Given the description of an element on the screen output the (x, y) to click on. 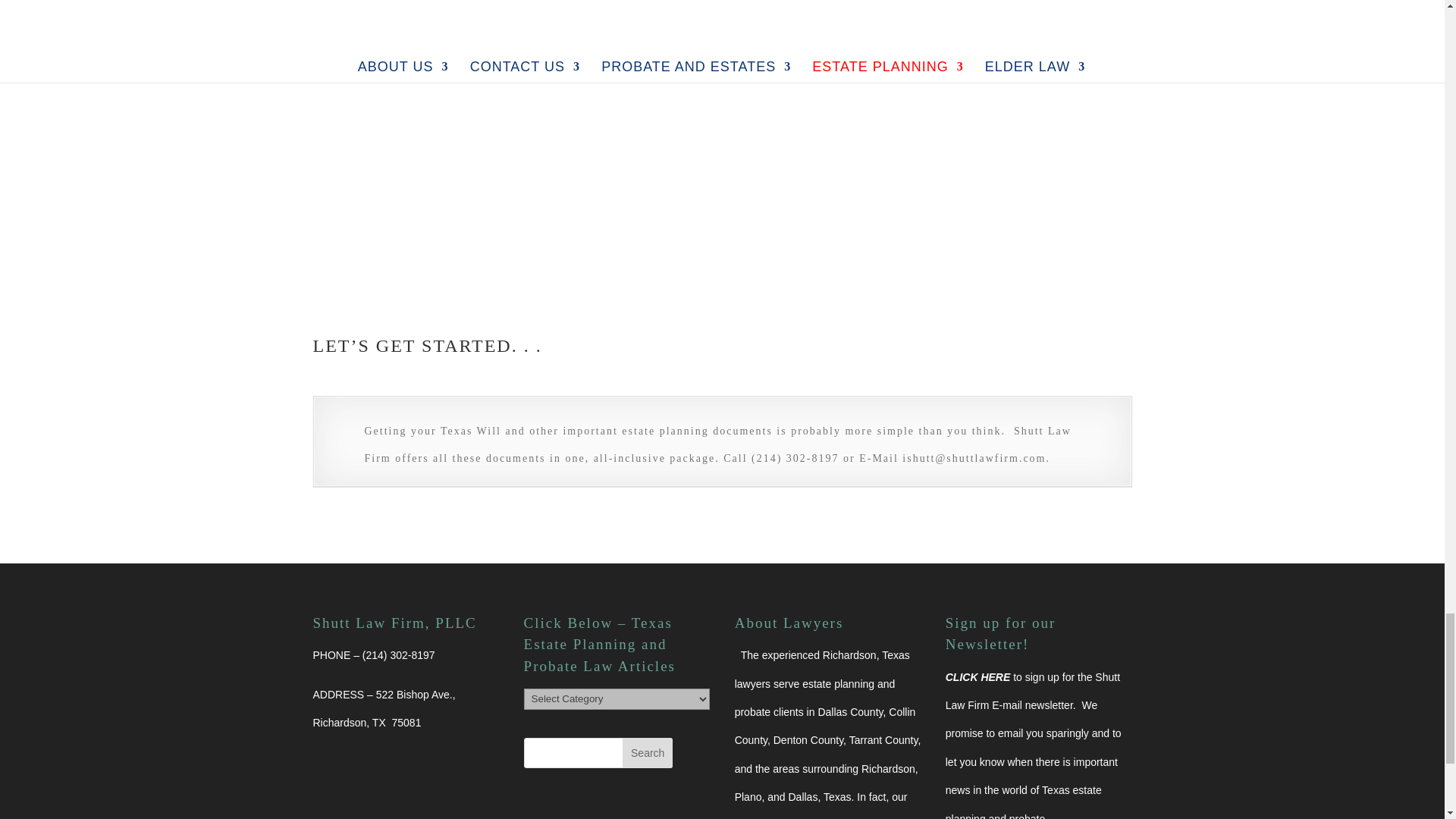
Step Two (427, 20)
Search (647, 752)
Step One (351, 20)
